Given the description of an element on the screen output the (x, y) to click on. 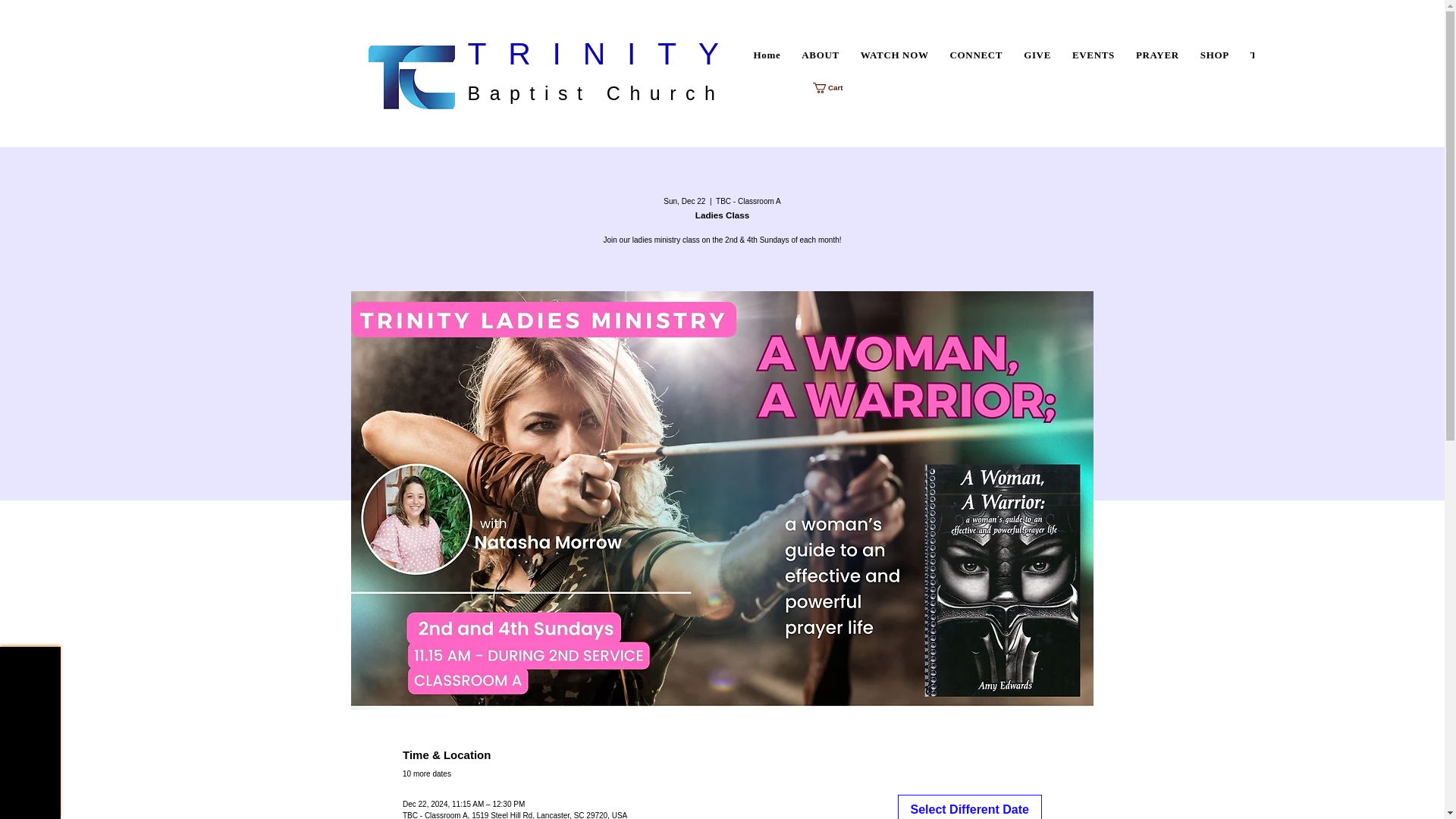
TRINITY (603, 53)
Baptist Church (595, 93)
Home (767, 54)
ABOUT (999, 54)
TBI (819, 54)
GIVE (1259, 54)
CONNECT (1037, 54)
SHOP (976, 54)
Cart (1214, 54)
Cart (834, 87)
PRAYER (834, 87)
EVENTS (1157, 54)
Select Different Date (1093, 54)
WATCH NOW (970, 806)
